Given the description of an element on the screen output the (x, y) to click on. 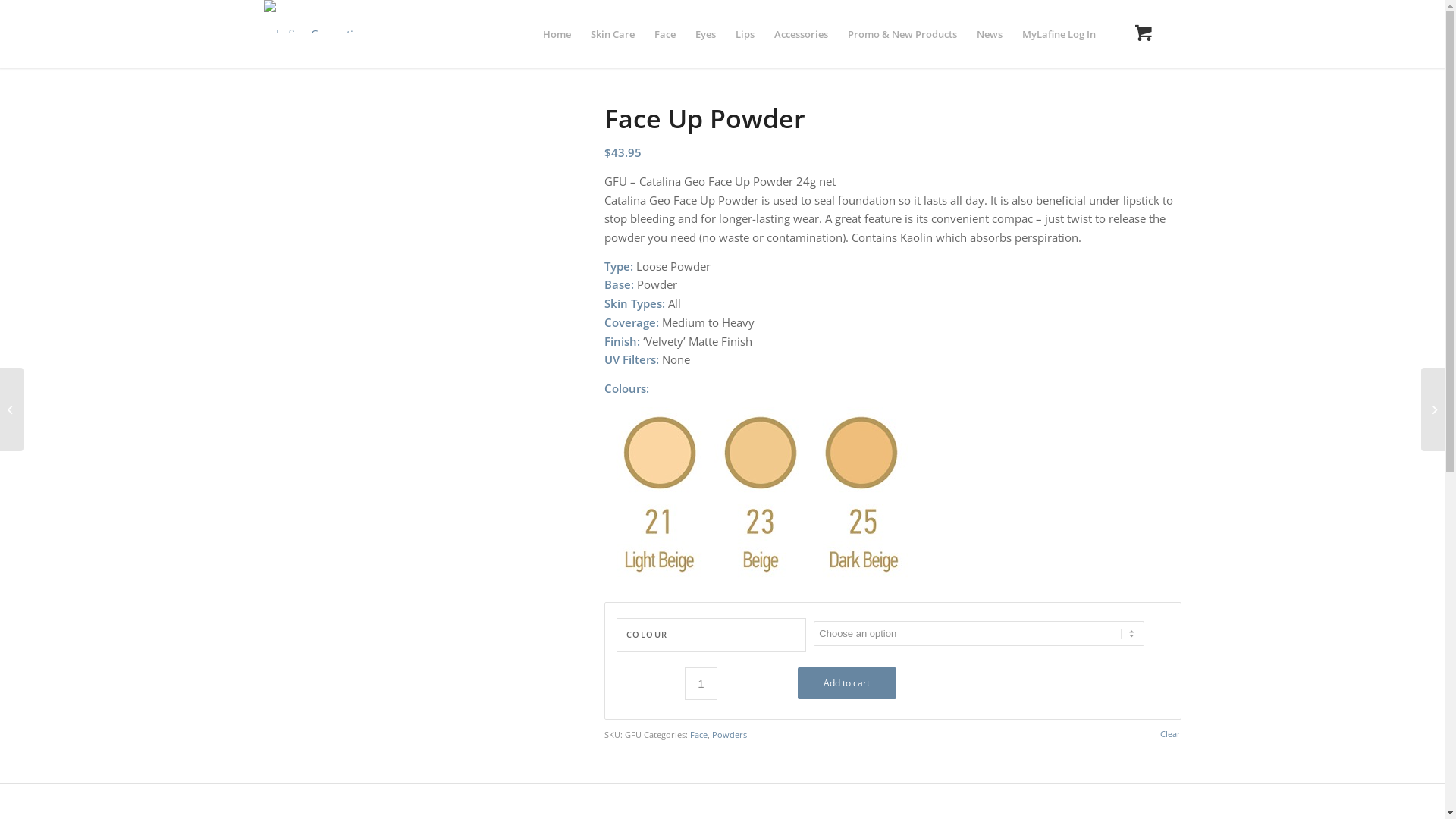
Add to cart Element type: text (846, 683)
News Element type: text (988, 34)
Home Element type: text (556, 34)
Face Element type: text (698, 734)
Lips Element type: text (743, 34)
Clear Element type: text (1170, 733)
Promo & New Products Element type: text (901, 34)
Face Element type: text (664, 34)
Powders Element type: text (729, 734)
Accessories Element type: text (800, 34)
Eyes Element type: text (705, 34)
MyLafine Log In Element type: text (1057, 34)
Skin Care Element type: text (612, 34)
